Given the description of an element on the screen output the (x, y) to click on. 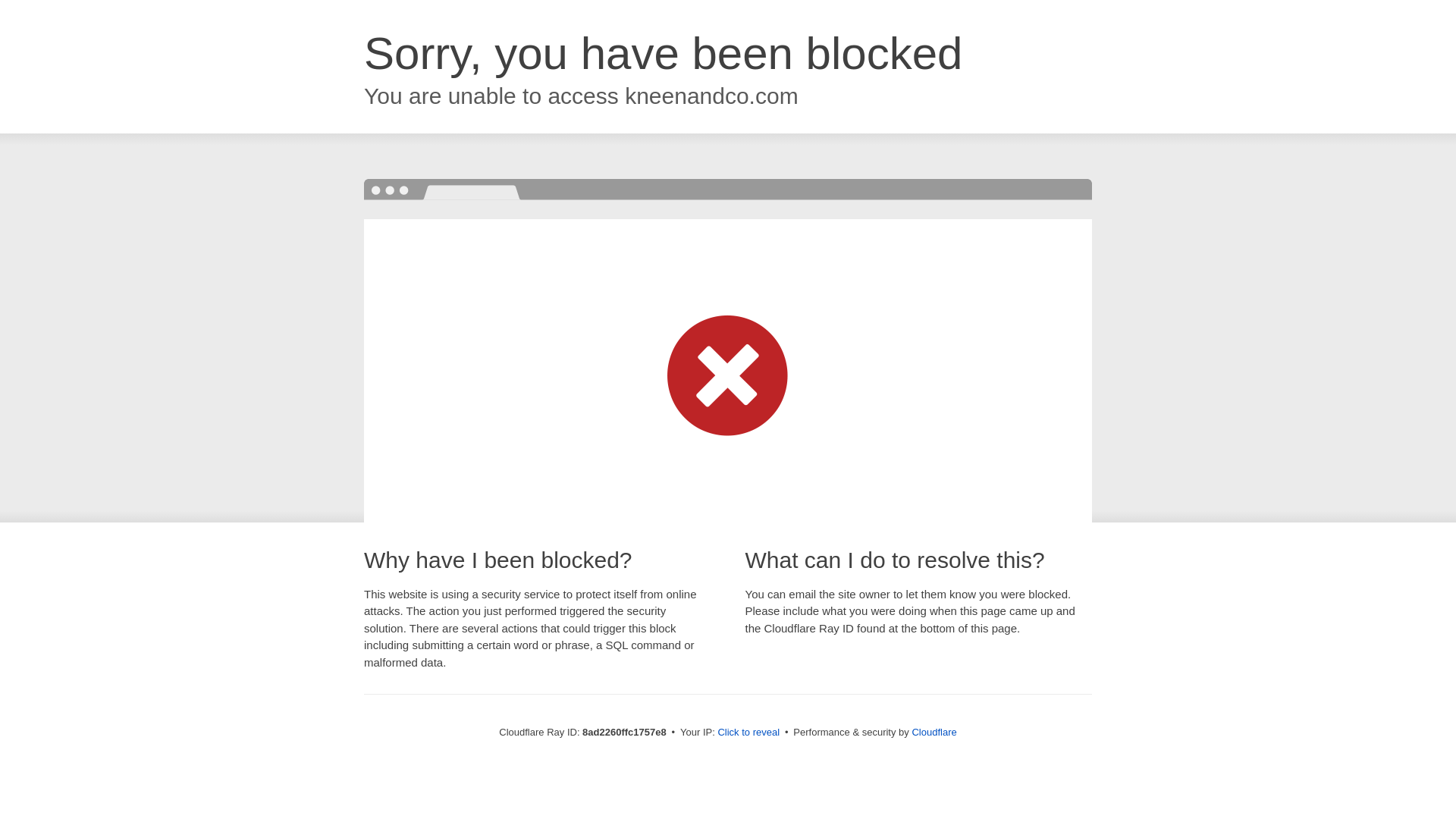
Click to reveal (747, 732)
Cloudflare (933, 731)
